Given the description of an element on the screen output the (x, y) to click on. 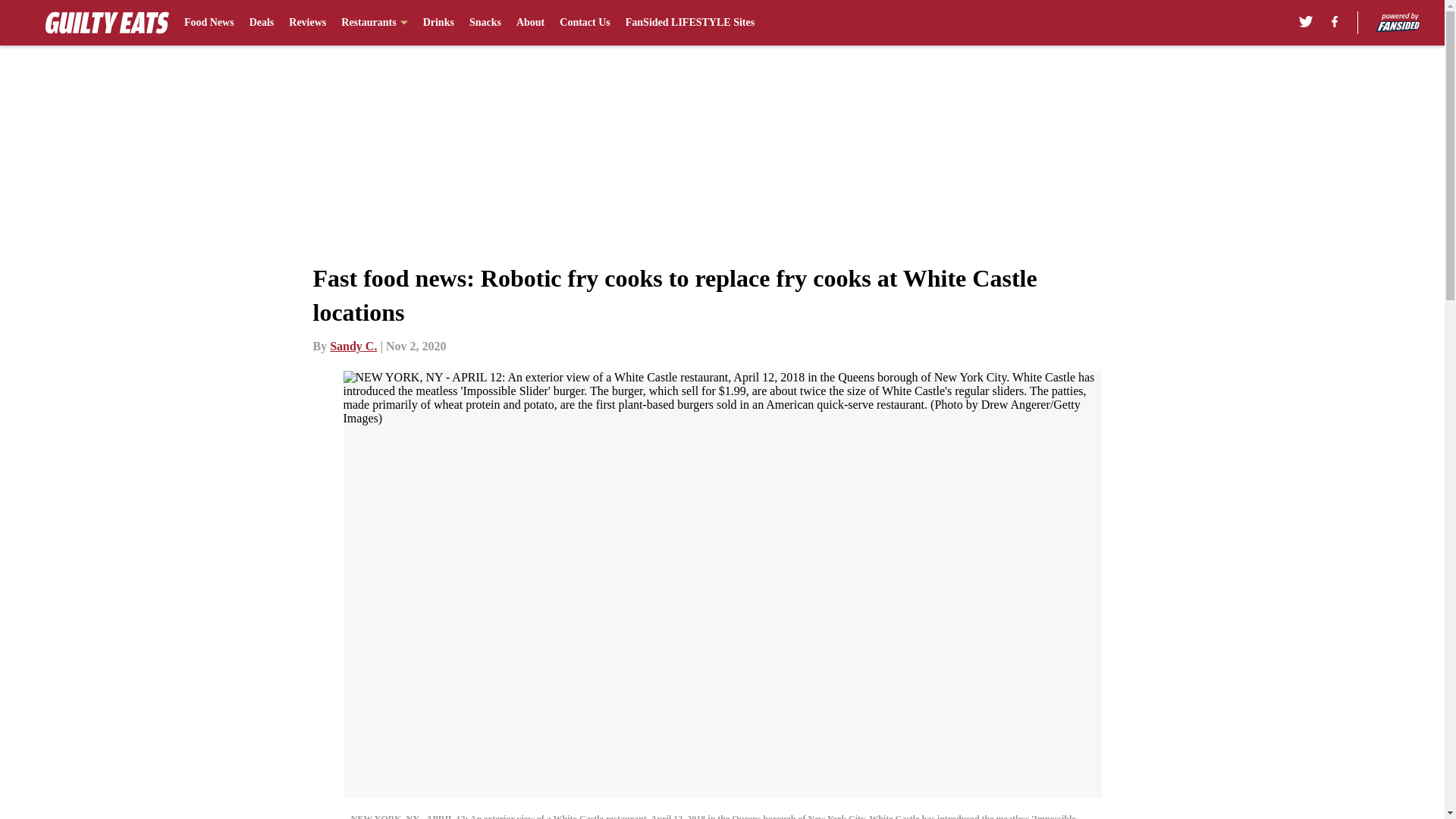
Snacks (484, 22)
Restaurants (373, 22)
Reviews (307, 22)
About (530, 22)
Deals (261, 22)
Drinks (438, 22)
Food News (209, 22)
Sandy C. (353, 345)
FanSided LIFESTYLE Sites (690, 22)
Contact Us (584, 22)
